Given the description of an element on the screen output the (x, y) to click on. 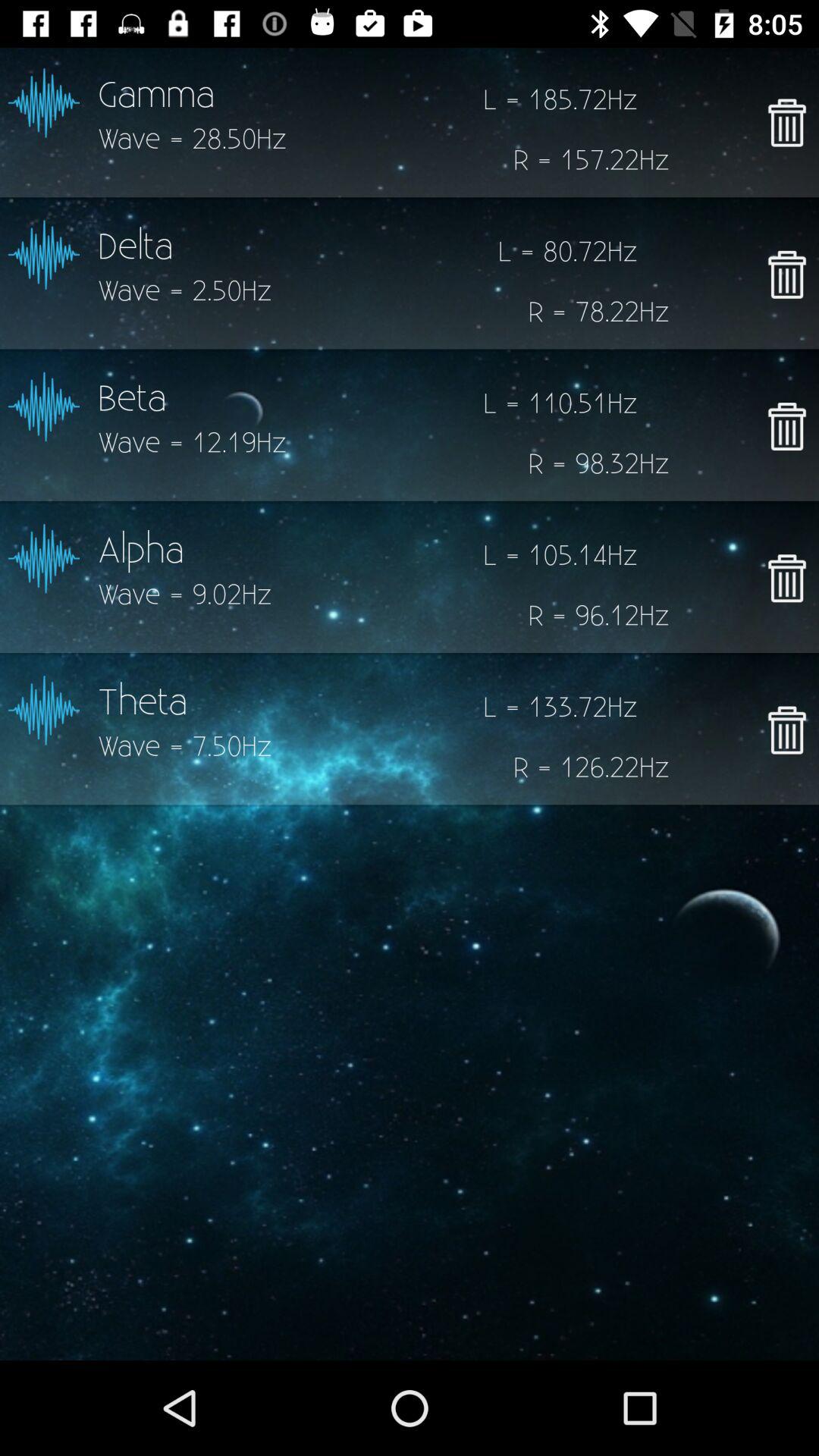
for delete (787, 273)
